Given the description of an element on the screen output the (x, y) to click on. 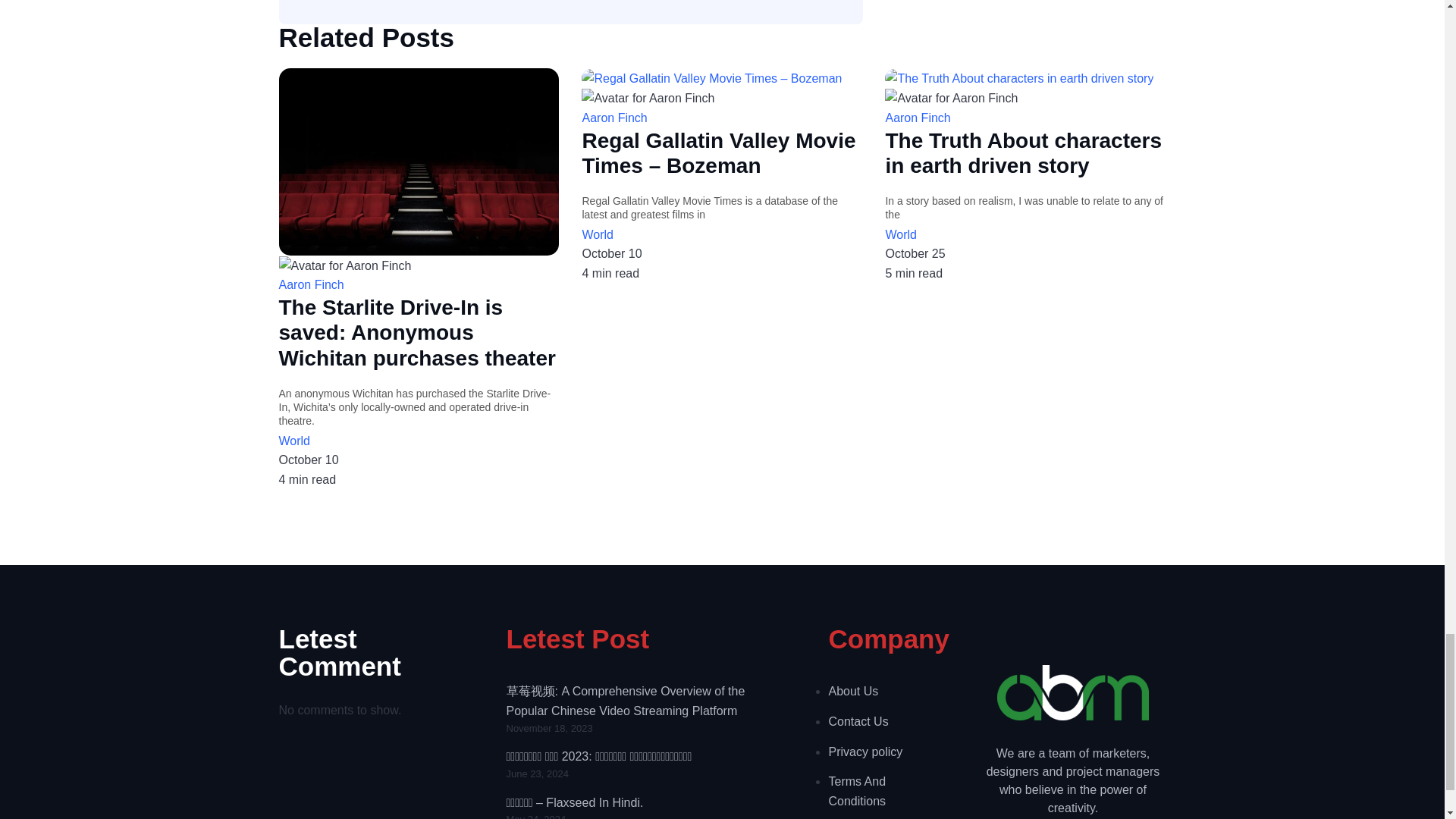
The Truth About characters in earth driven story (1025, 153)
World (720, 234)
Aaron Finch (1025, 117)
About Us (882, 691)
World (1025, 234)
Contact Us (882, 721)
Aaron Finch (720, 117)
Aaron Finch (419, 284)
Privacy policy (882, 752)
World (419, 441)
